Given the description of an element on the screen output the (x, y) to click on. 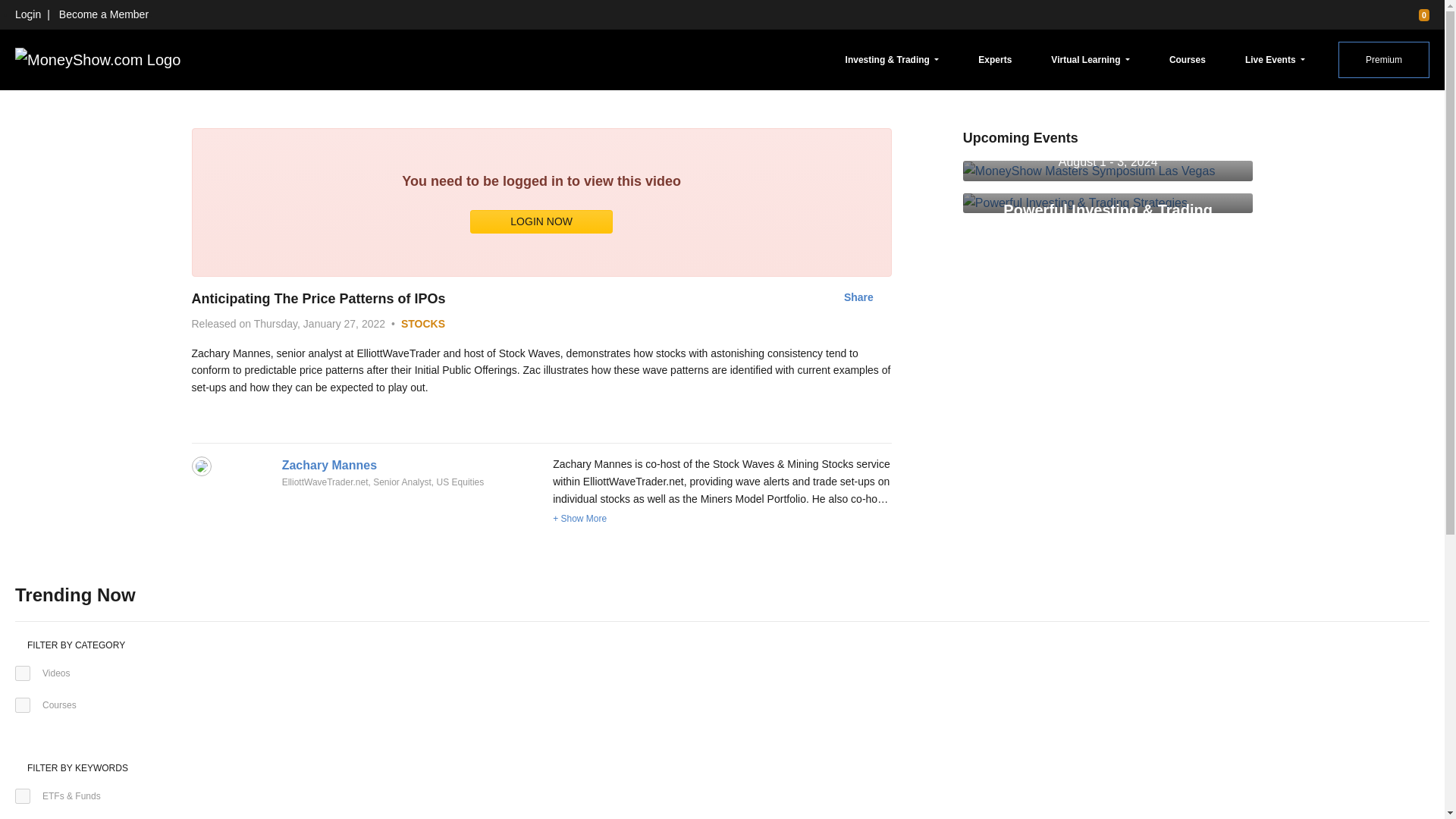
Experts (994, 59)
Premium (1383, 59)
Live Events (1275, 59)
Videos (22, 672)
0 (1416, 14)
Become a Member (103, 14)
Zachary Mannes (329, 464)
Login (27, 14)
Virtual Learning (1090, 59)
Courses (22, 704)
Share (858, 297)
Courses (1187, 59)
LOGIN NOW (541, 221)
STOCKS (423, 323)
